Given the description of an element on the screen output the (x, y) to click on. 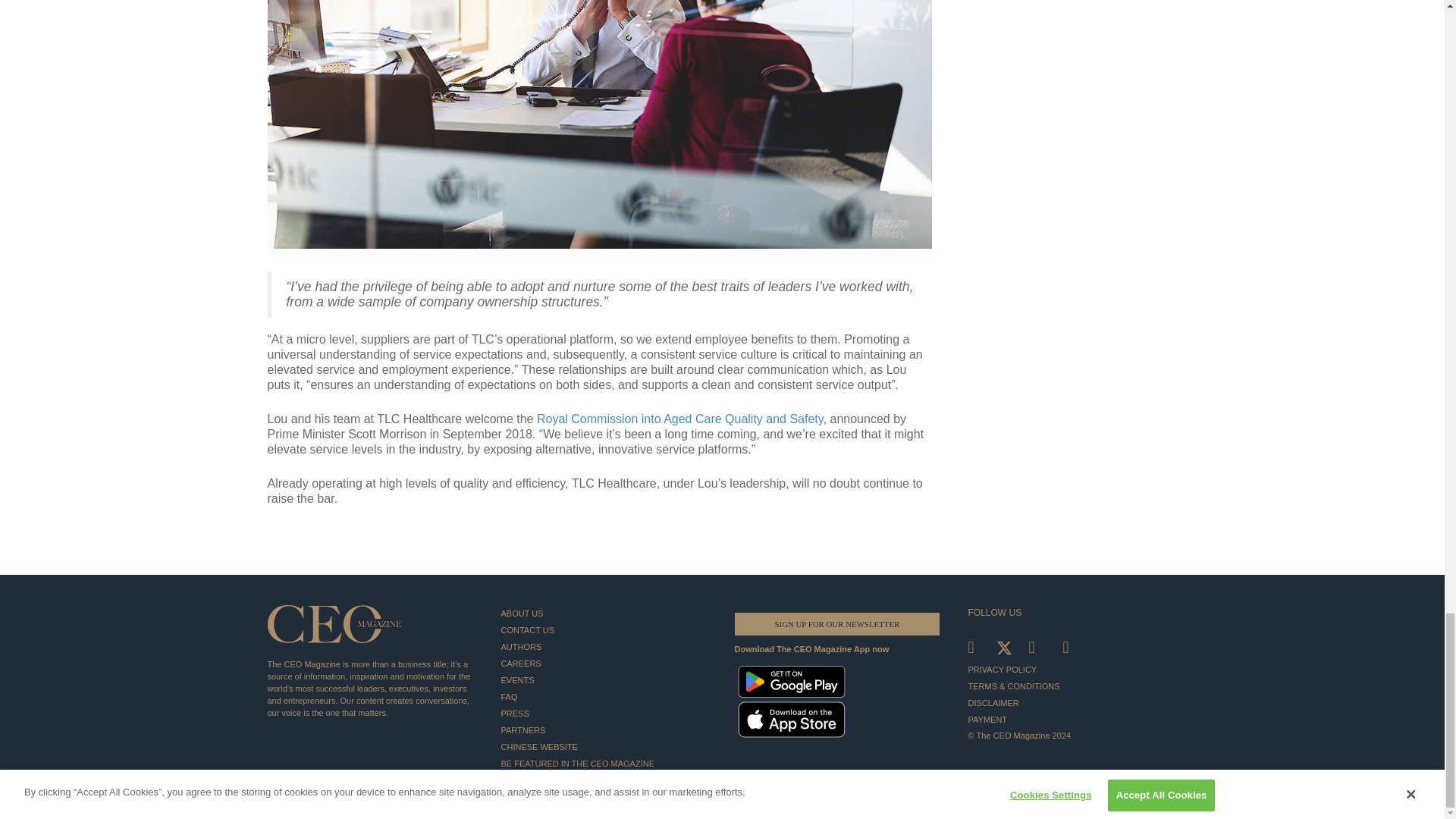
CAREERS (605, 663)
FAQ (605, 696)
CONTACT US (605, 629)
Press (605, 713)
EVENTS (605, 679)
PARTNERS (605, 729)
AUTHORS (605, 646)
Events (605, 679)
PRESS (605, 713)
Contact Us (605, 629)
FAQ (605, 696)
Authors (605, 646)
Careers (605, 663)
About Us (605, 613)
ABOUT US (605, 613)
